Given the description of an element on the screen output the (x, y) to click on. 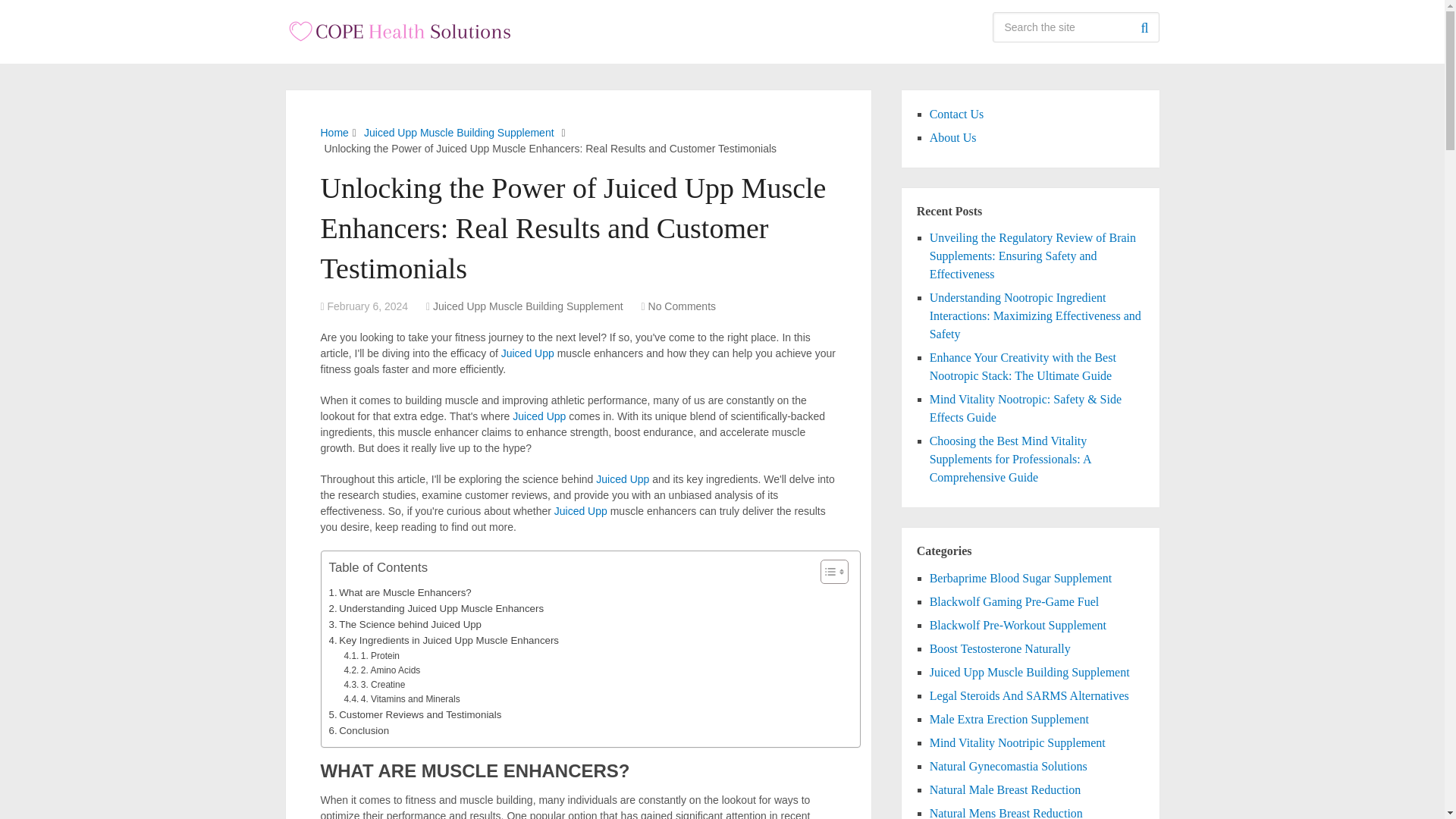
Key Ingredients in Juiced Upp Muscle Enhancers (444, 640)
View all posts in Juiced Upp Muscle Building Supplement (527, 306)
Juiced Upp (622, 479)
JUICED UPP (539, 416)
JUICED UPP (622, 479)
What are Muscle Enhancers? (400, 592)
No Comments (681, 306)
JUICED UPP (580, 510)
What are Muscle Enhancers? (400, 592)
The Science behind Juiced Upp (405, 624)
